Given the description of an element on the screen output the (x, y) to click on. 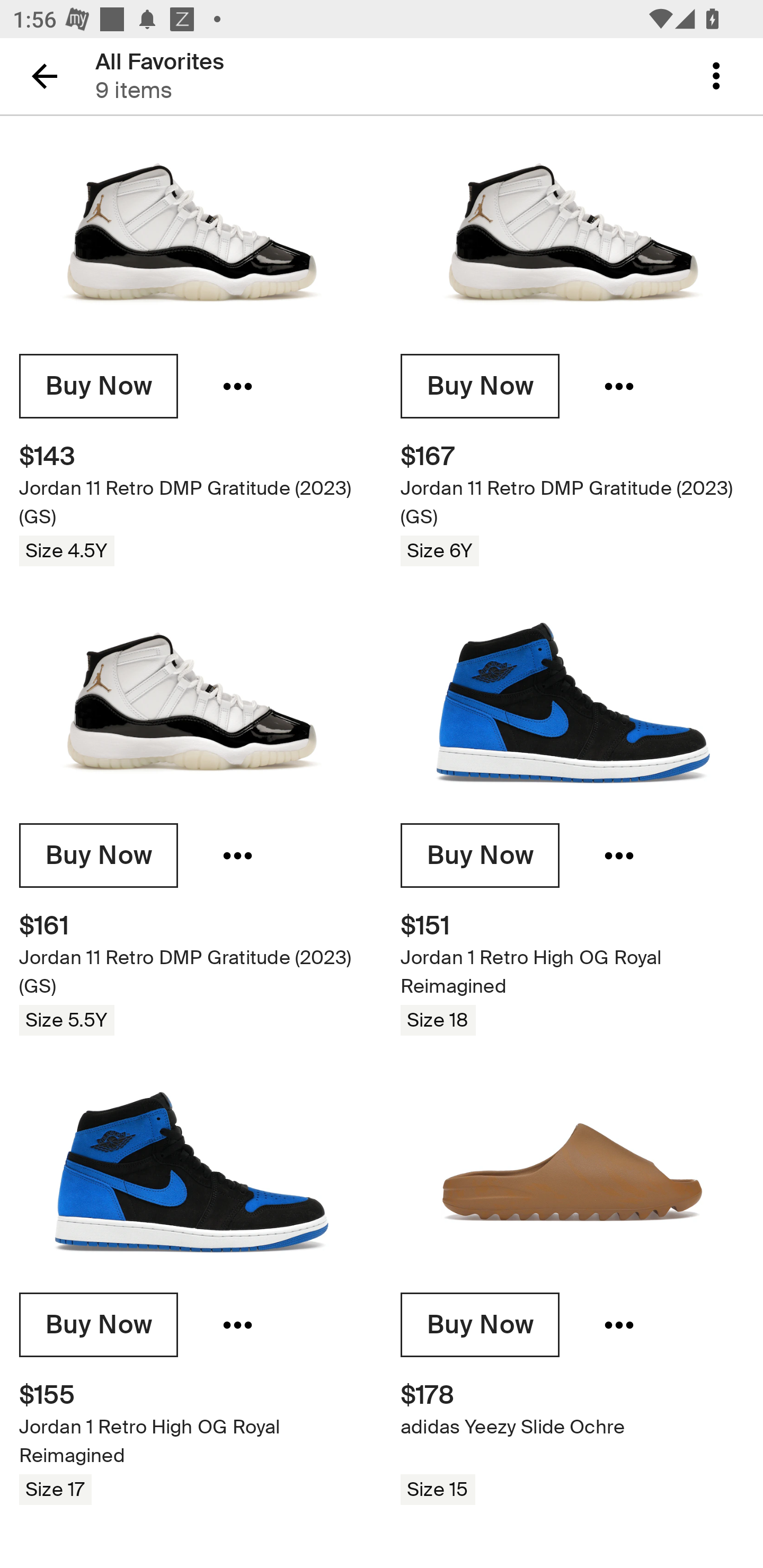
Buy Now (98, 386)
Buy Now (479, 386)
Buy Now (98, 854)
Buy Now (479, 854)
Buy Now (98, 1324)
Buy Now (479, 1324)
